Given the description of an element on the screen output the (x, y) to click on. 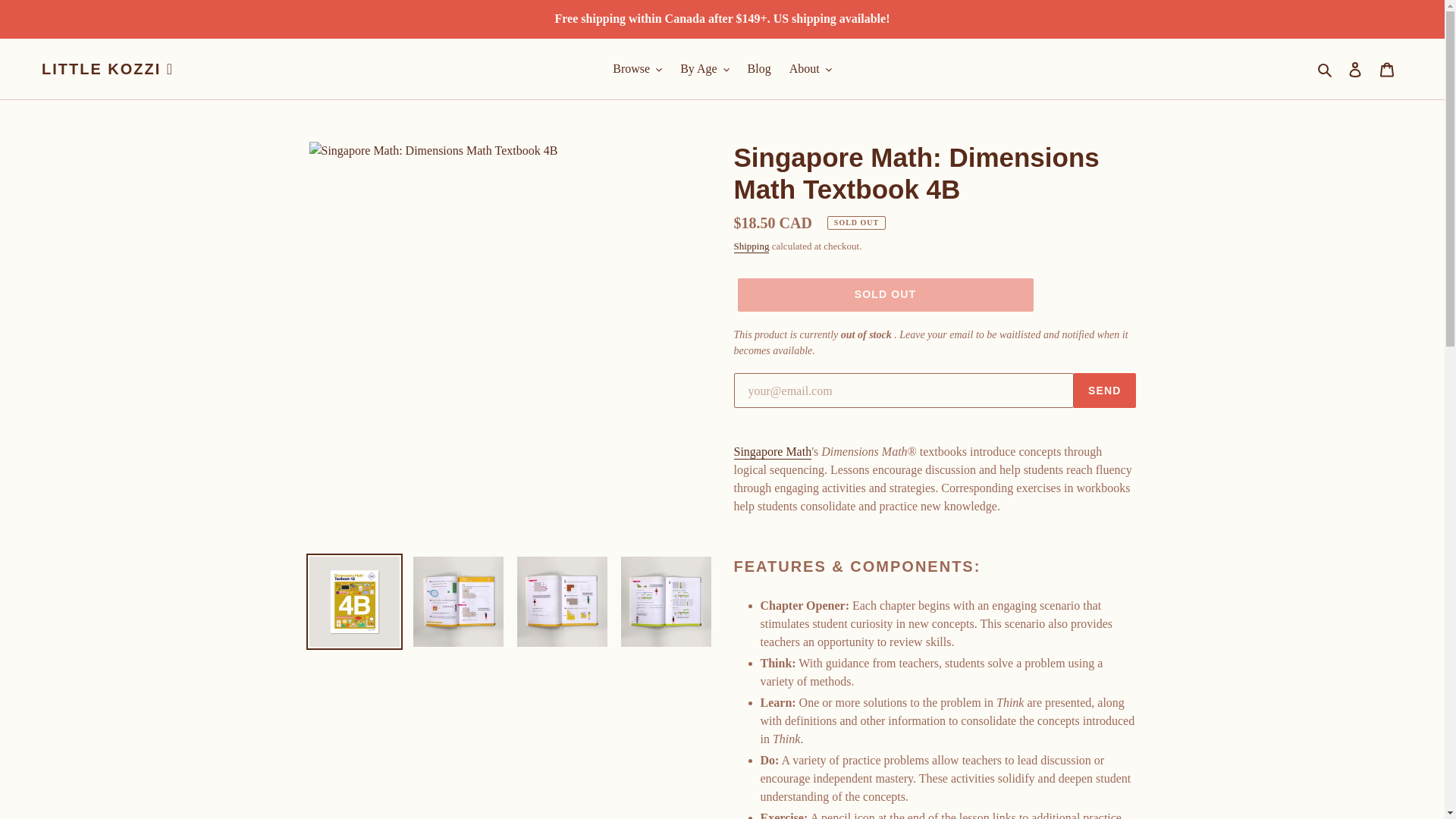
Browse (637, 68)
About (810, 68)
Blog (758, 68)
Send (1104, 390)
Singapore Math (772, 452)
By Age (704, 68)
